Given the description of an element on the screen output the (x, y) to click on. 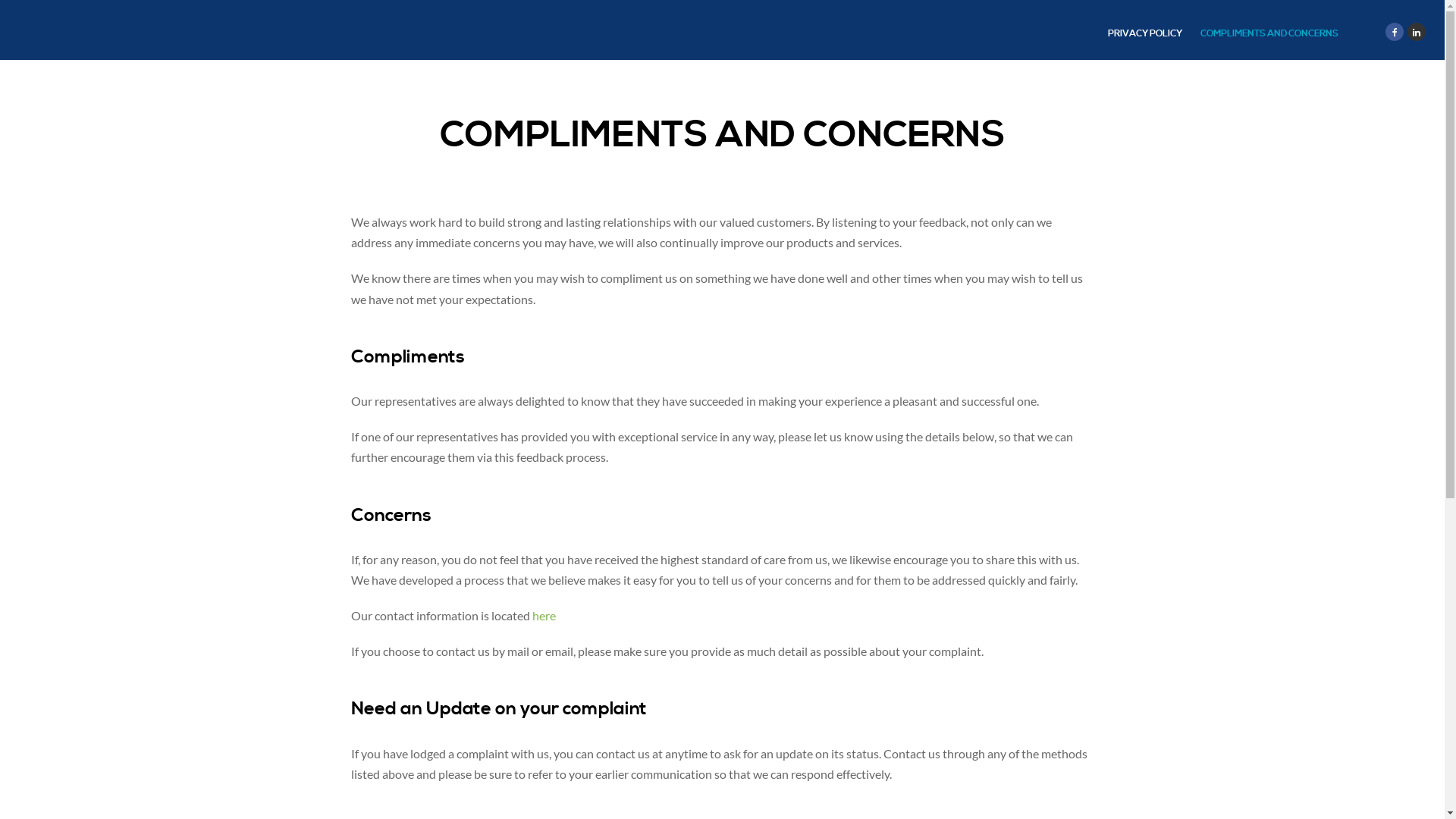
PRIVACY POLICY Element type: text (1144, 33)
Facebook Element type: hover (1394, 31)
here Element type: text (543, 615)
COMPLIMENTS AND CONCERNS Element type: text (1269, 33)
linkedIn Element type: hover (1416, 31)
